Given the description of an element on the screen output the (x, y) to click on. 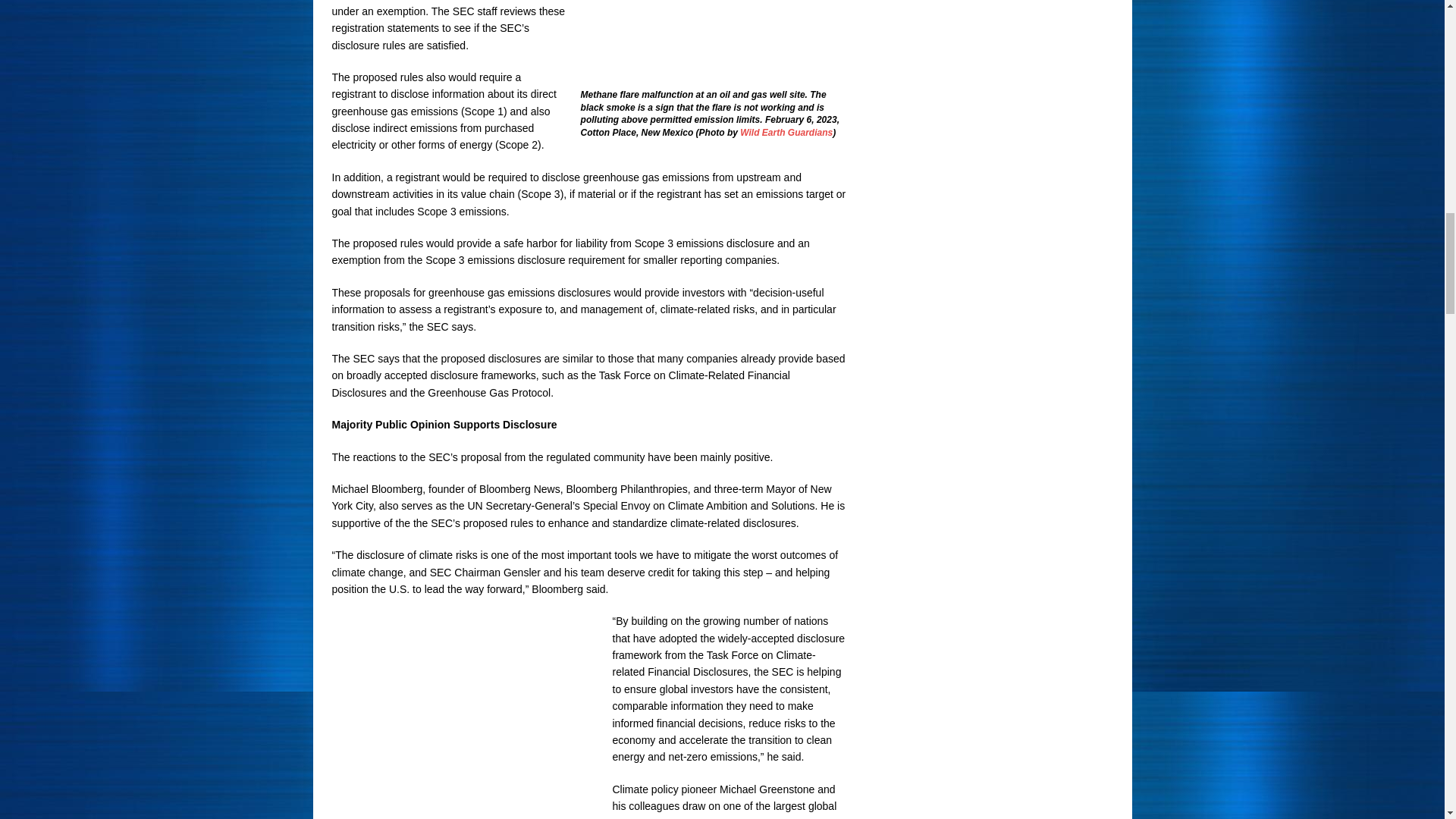
Wild Earth Guardians (785, 132)
